Given the description of an element on the screen output the (x, y) to click on. 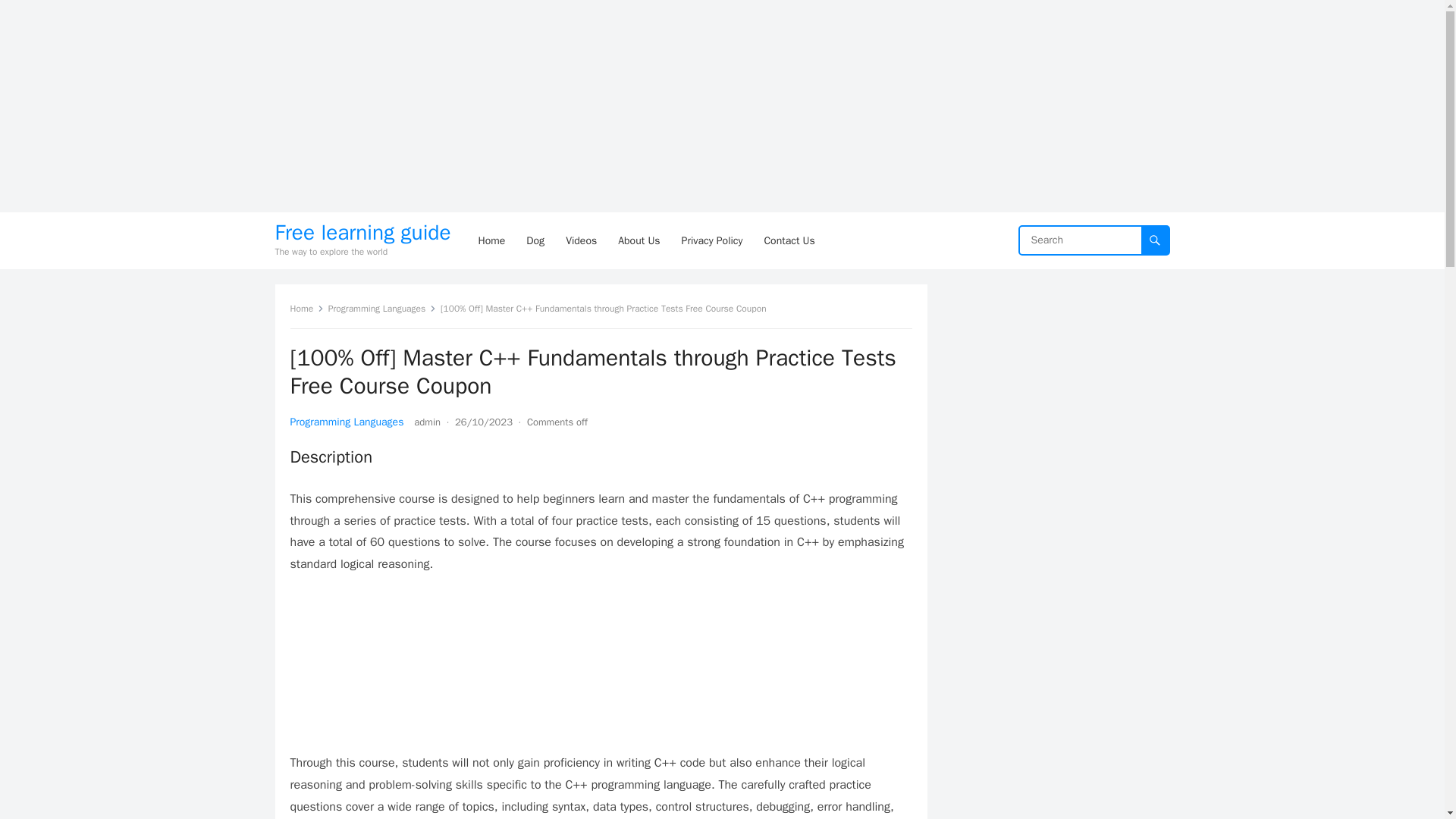
Programming Languages (346, 421)
Advertisement (600, 670)
Posts by admin (427, 421)
Privacy Policy (712, 240)
Contact Us (789, 240)
About Us (638, 240)
Home (306, 308)
admin (427, 421)
Free learning guide (362, 232)
Programming Languages (382, 308)
